Given the description of an element on the screen output the (x, y) to click on. 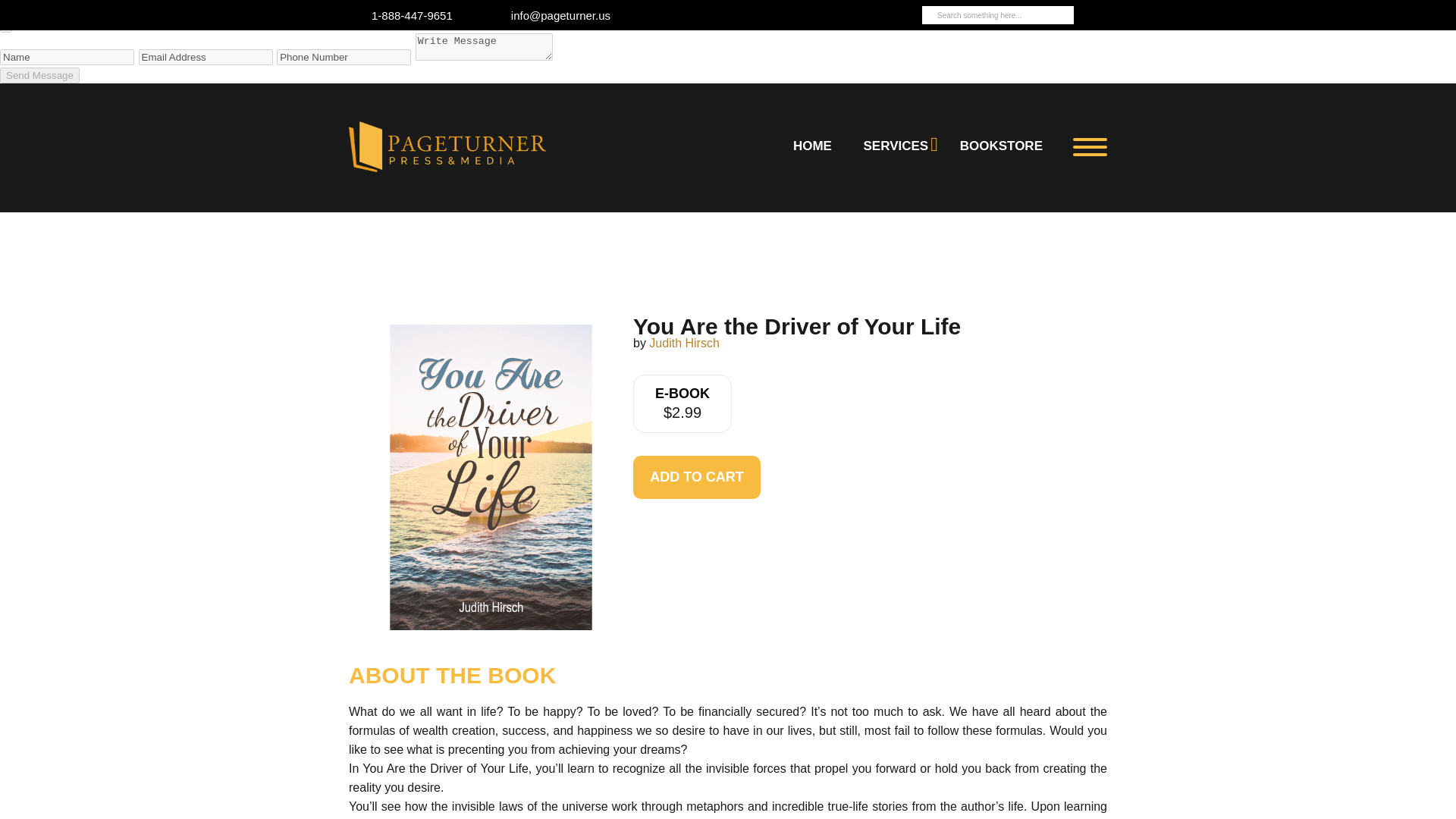
Login (1094, 14)
Judith Hirsch (684, 342)
1-888-447-9651 (411, 15)
HOME (812, 145)
Send Message (40, 75)
BOOKSTORE (1001, 145)
SERVICES (896, 145)
ADD TO CART (696, 476)
